Given the description of an element on the screen output the (x, y) to click on. 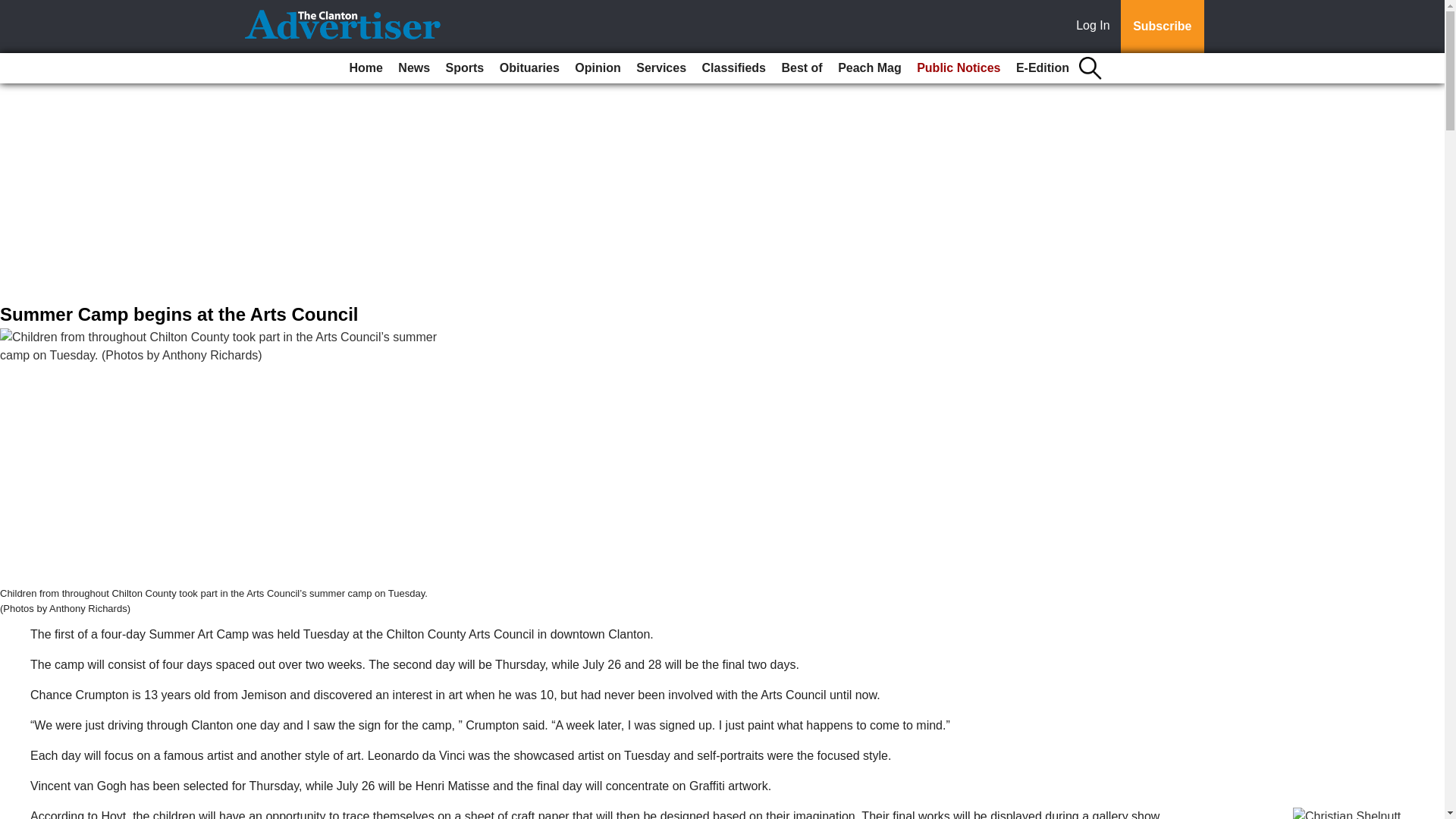
Services (661, 68)
Log In (1095, 26)
Opinion (597, 68)
Obituaries (529, 68)
Go (13, 9)
Peach Mag (869, 68)
Public Notices (958, 68)
News (413, 68)
E-Edition (1042, 68)
Classifieds (733, 68)
